Given the description of an element on the screen output the (x, y) to click on. 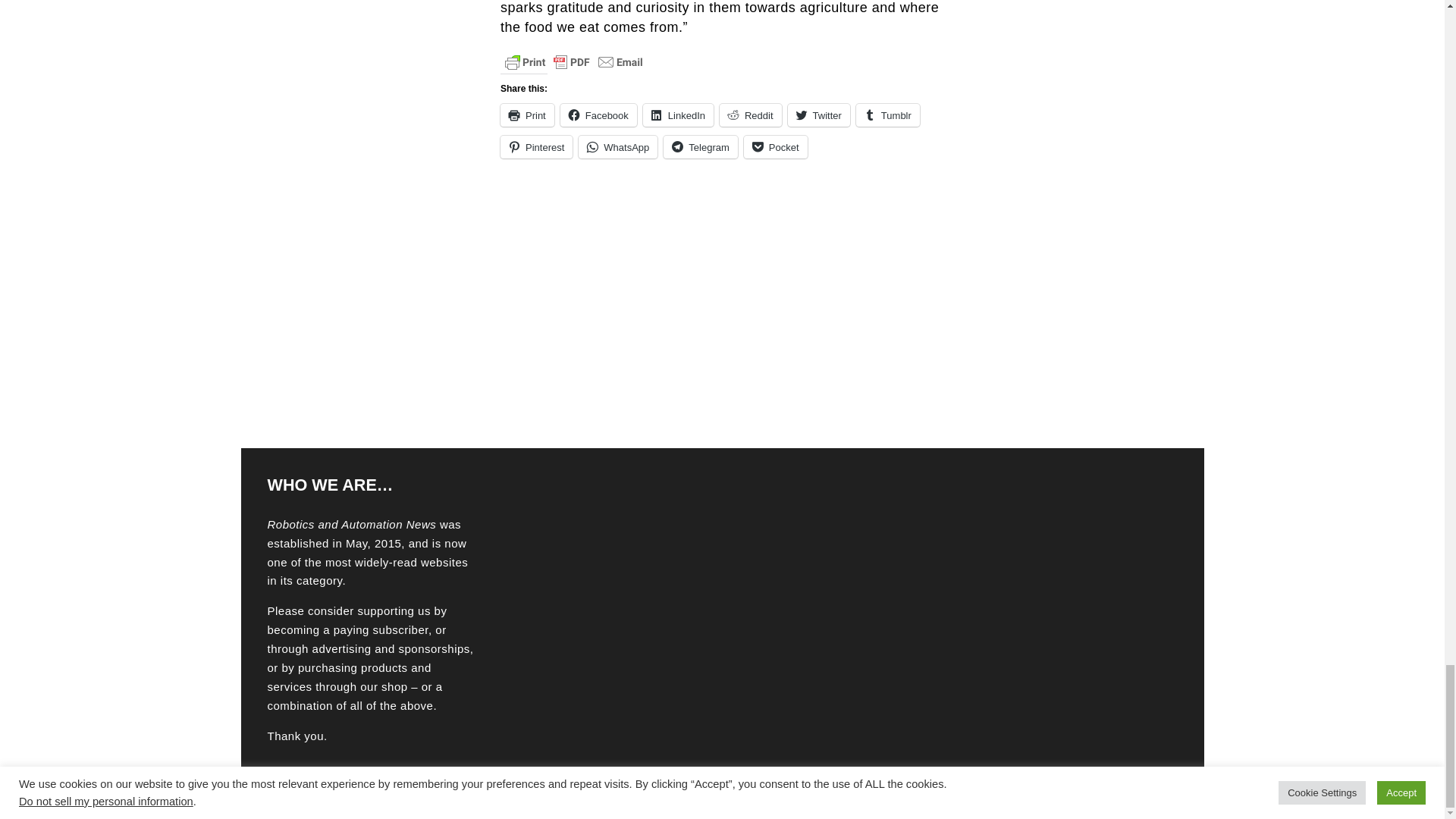
Click to share on Twitter (818, 115)
Click to share on Pocket (776, 146)
Click to share on WhatsApp (618, 146)
Click to share on Telegram (699, 146)
Click to share on LinkedIn (678, 115)
Click to share on Tumblr (888, 115)
Click to share on Facebook (598, 115)
Click to share on Reddit (750, 115)
Click to share on Pinterest (536, 146)
Click to print (527, 115)
